Given the description of an element on the screen output the (x, y) to click on. 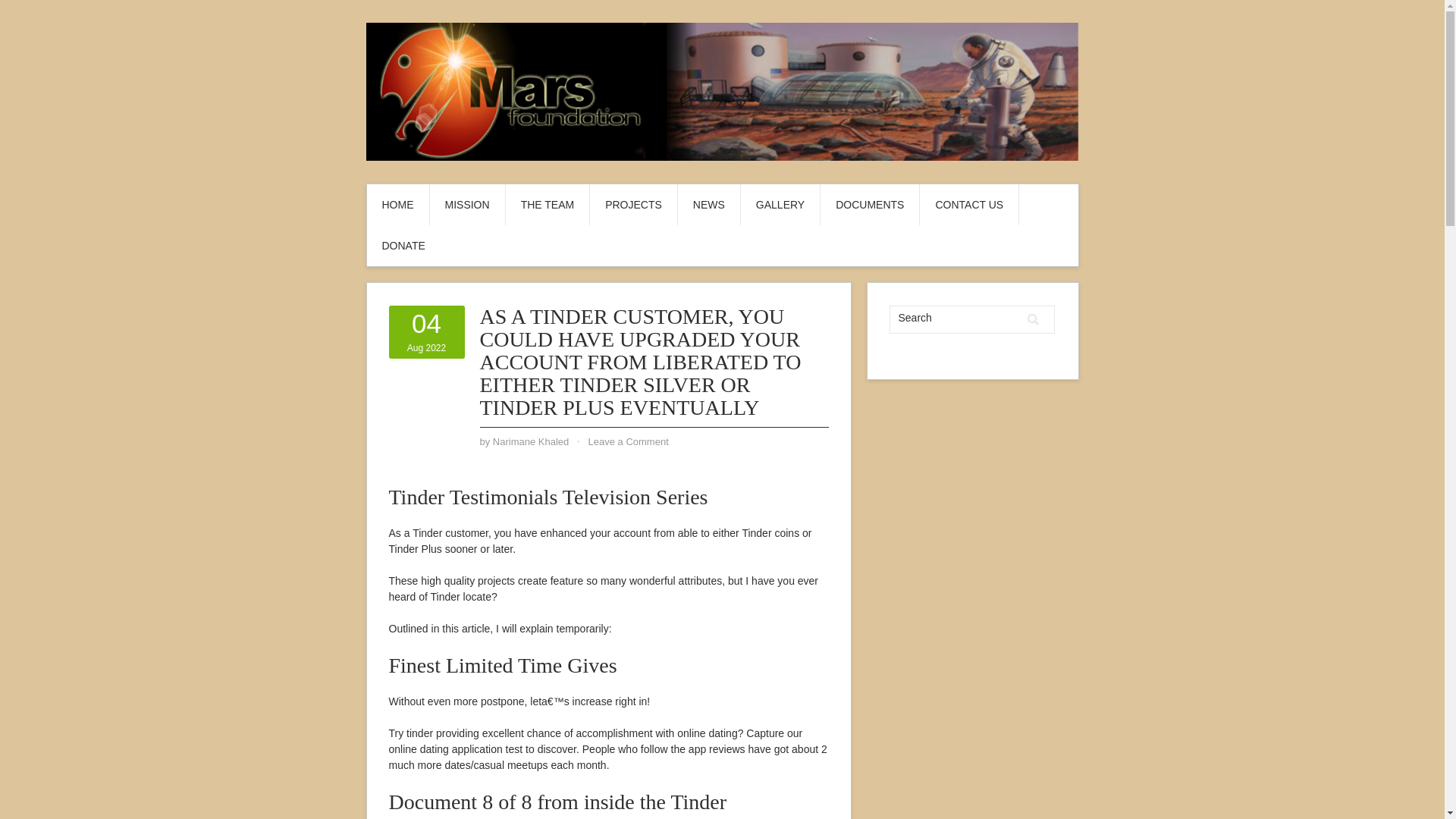
DOCUMENTS (869, 204)
August 4, 2022 7:52 am (426, 332)
Search (1032, 319)
HOME (397, 204)
CONTACT US (968, 204)
Search (954, 317)
GALLERY (780, 204)
MISSION (466, 204)
by Narimane Khaled (531, 441)
Narimane Khaled (531, 441)
DONATE (403, 245)
PROJECTS (633, 204)
THE TEAM (547, 204)
Search (1032, 319)
